Given the description of an element on the screen output the (x, y) to click on. 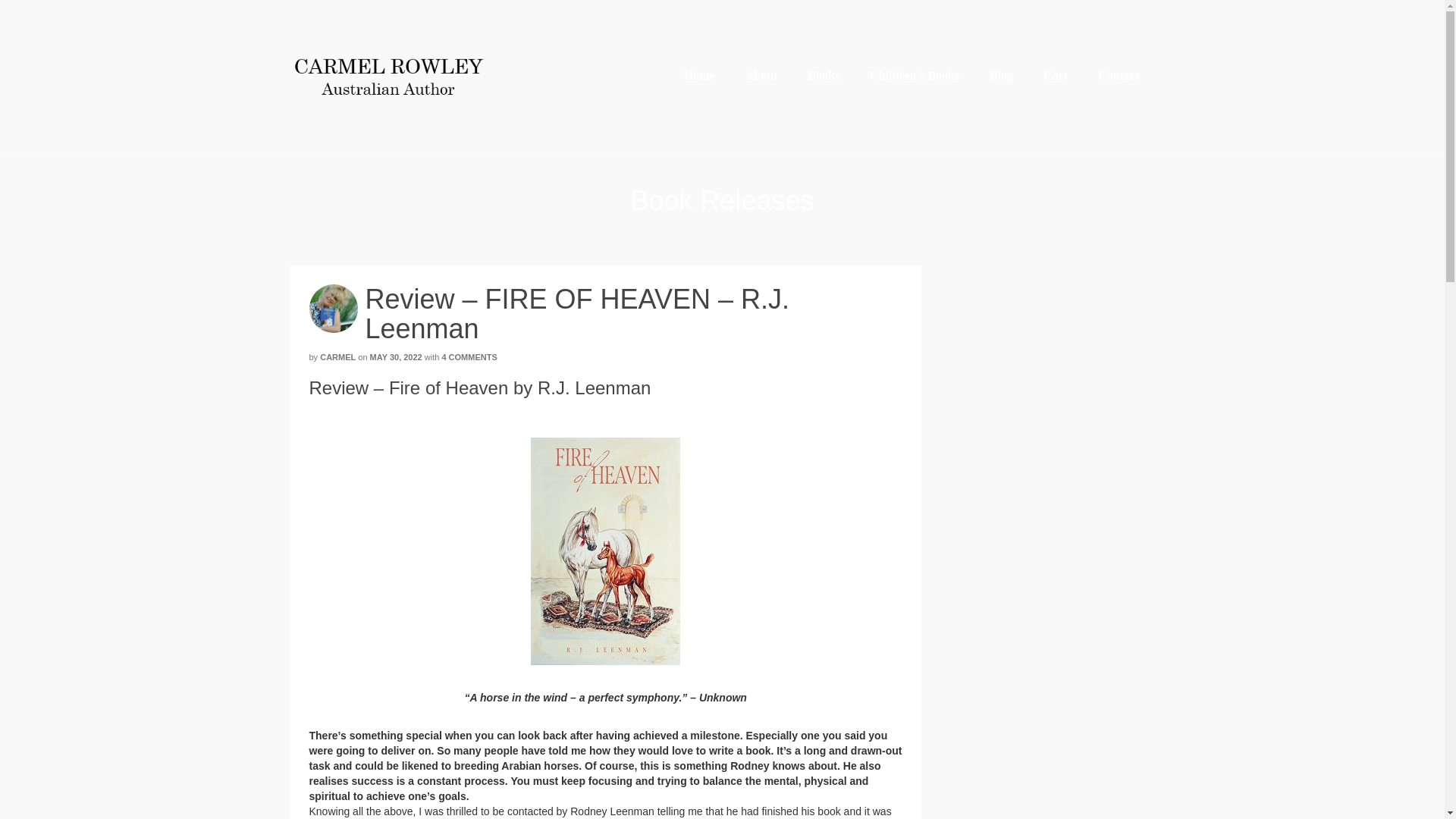
CARMEL (337, 356)
4 COMMENTS (468, 356)
